Given the description of an element on the screen output the (x, y) to click on. 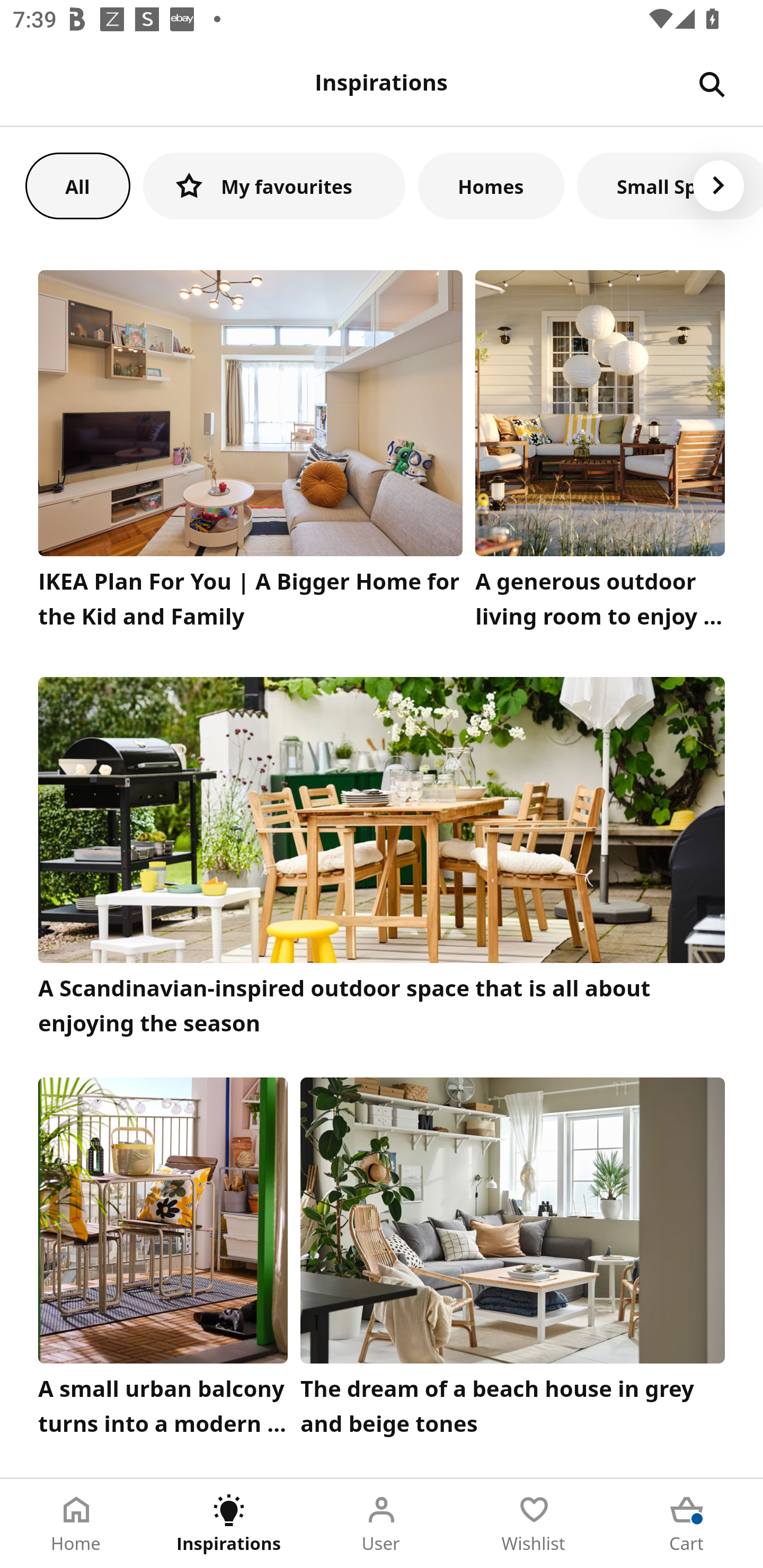
All (77, 185)
My favourites (274, 185)
Homes (491, 185)
The dream of a beach house in grey and beige tones (512, 1261)
Home
Tab 1 of 5 (76, 1522)
Inspirations
Tab 2 of 5 (228, 1522)
User
Tab 3 of 5 (381, 1522)
Wishlist
Tab 4 of 5 (533, 1522)
Cart
Tab 5 of 5 (686, 1522)
